Given the description of an element on the screen output the (x, y) to click on. 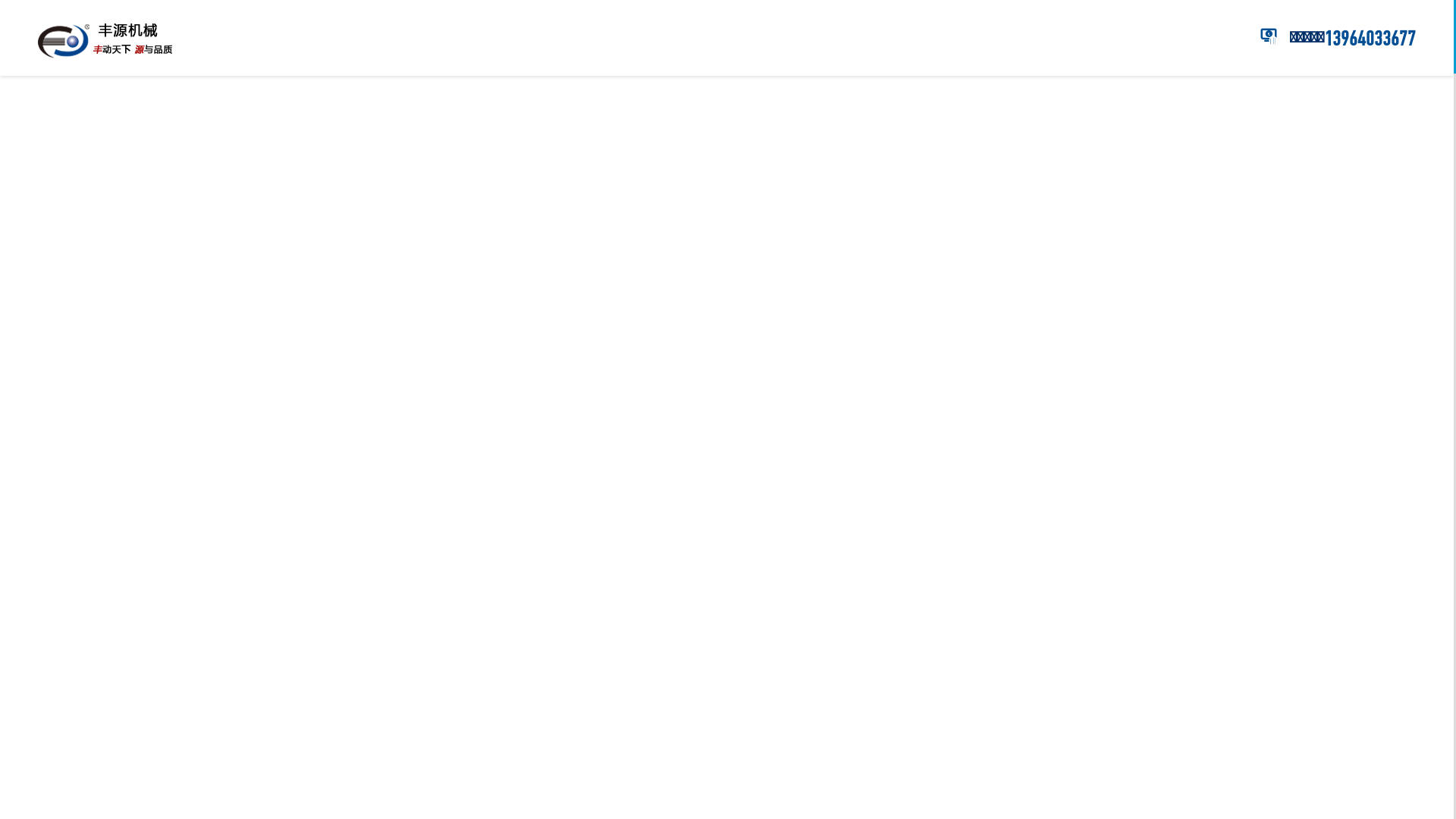
13964033677 Element type: text (1369, 38)
